Given the description of an element on the screen output the (x, y) to click on. 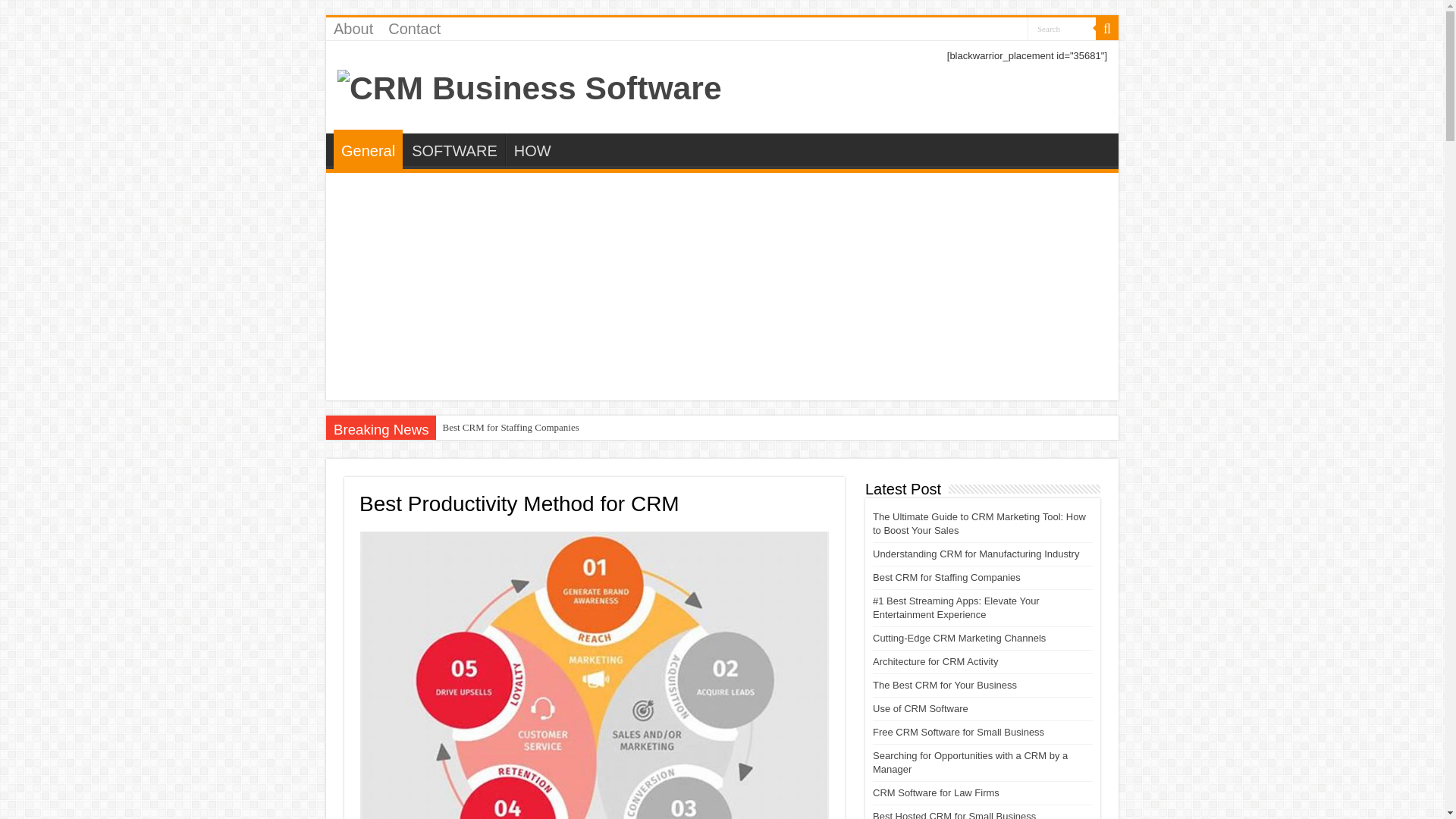
Best CRM for Staffing Companies (510, 427)
CRM Business Software (529, 85)
Search (1107, 28)
SOFTWARE (454, 149)
Search (1061, 28)
Search (1061, 28)
HOW (532, 149)
Best CRM for Staffing Companies (510, 427)
General (368, 148)
Contact (414, 28)
Search (1061, 28)
About (353, 28)
